Given the description of an element on the screen output the (x, y) to click on. 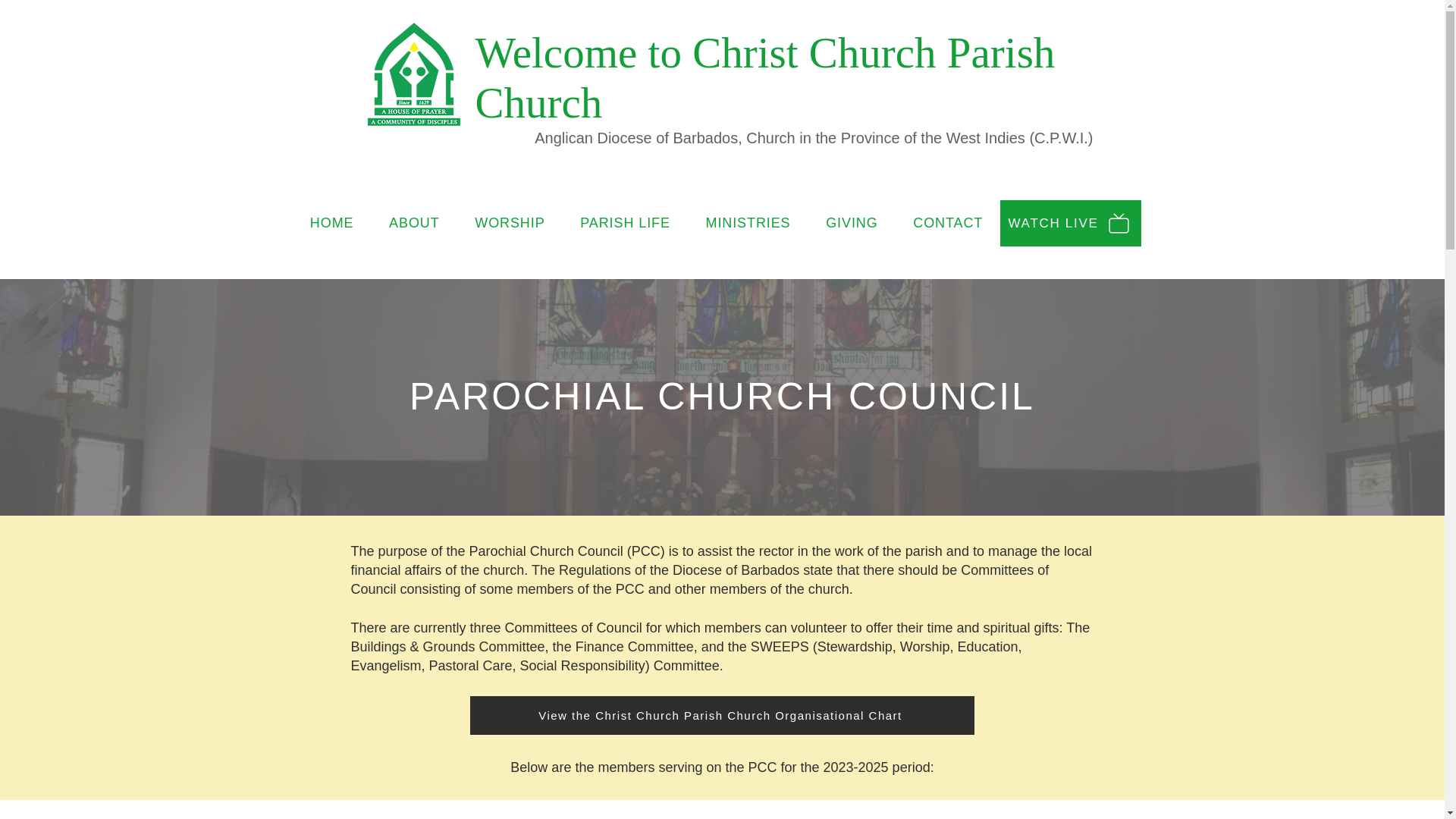
HOME (330, 222)
WATCH LIVE (1069, 222)
CONTACT (948, 222)
View the Christ Church Parish Church Organisational Chart (722, 715)
